Given the description of an element on the screen output the (x, y) to click on. 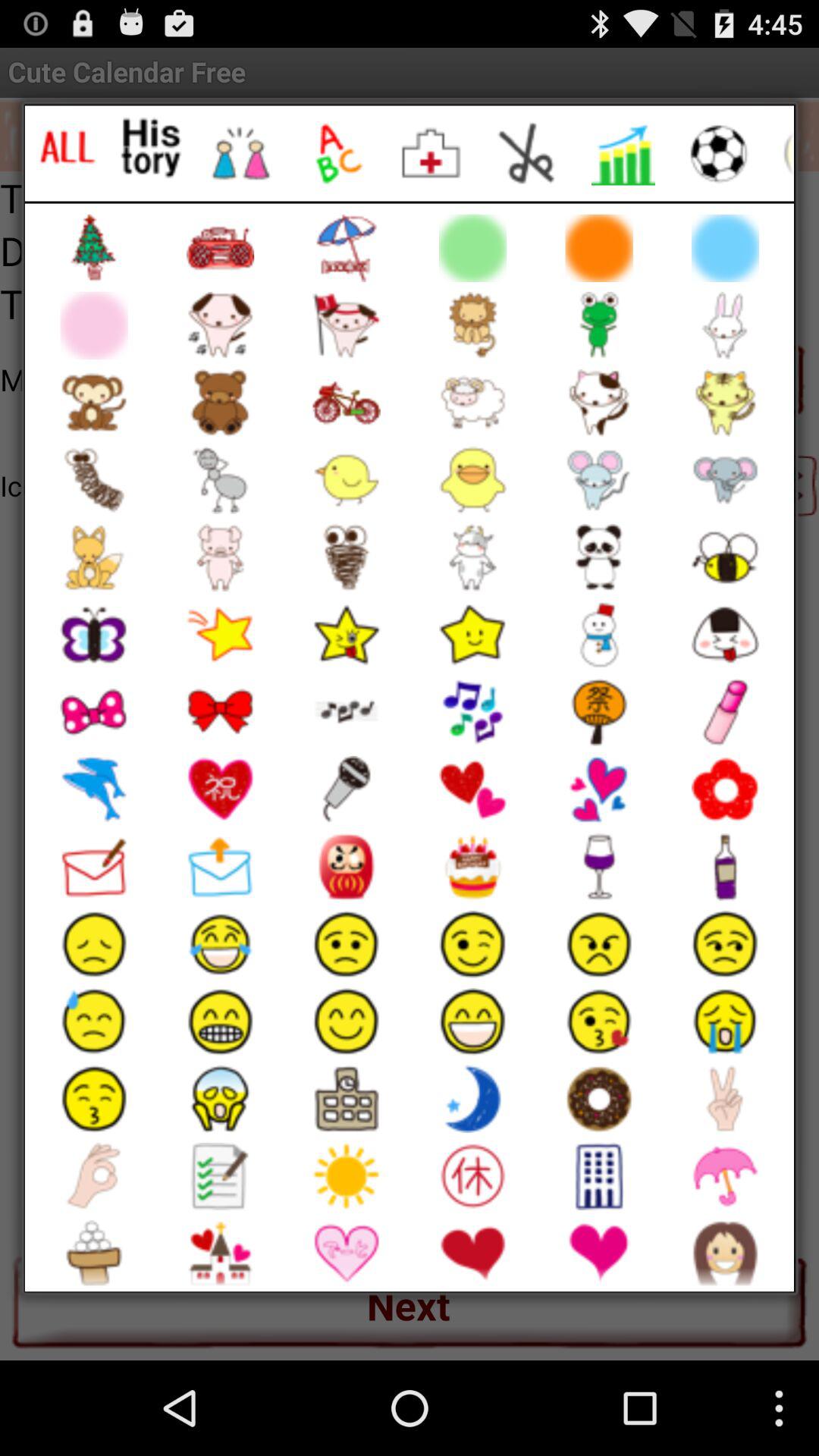
toggle emoji option (432, 153)
